Given the description of an element on the screen output the (x, y) to click on. 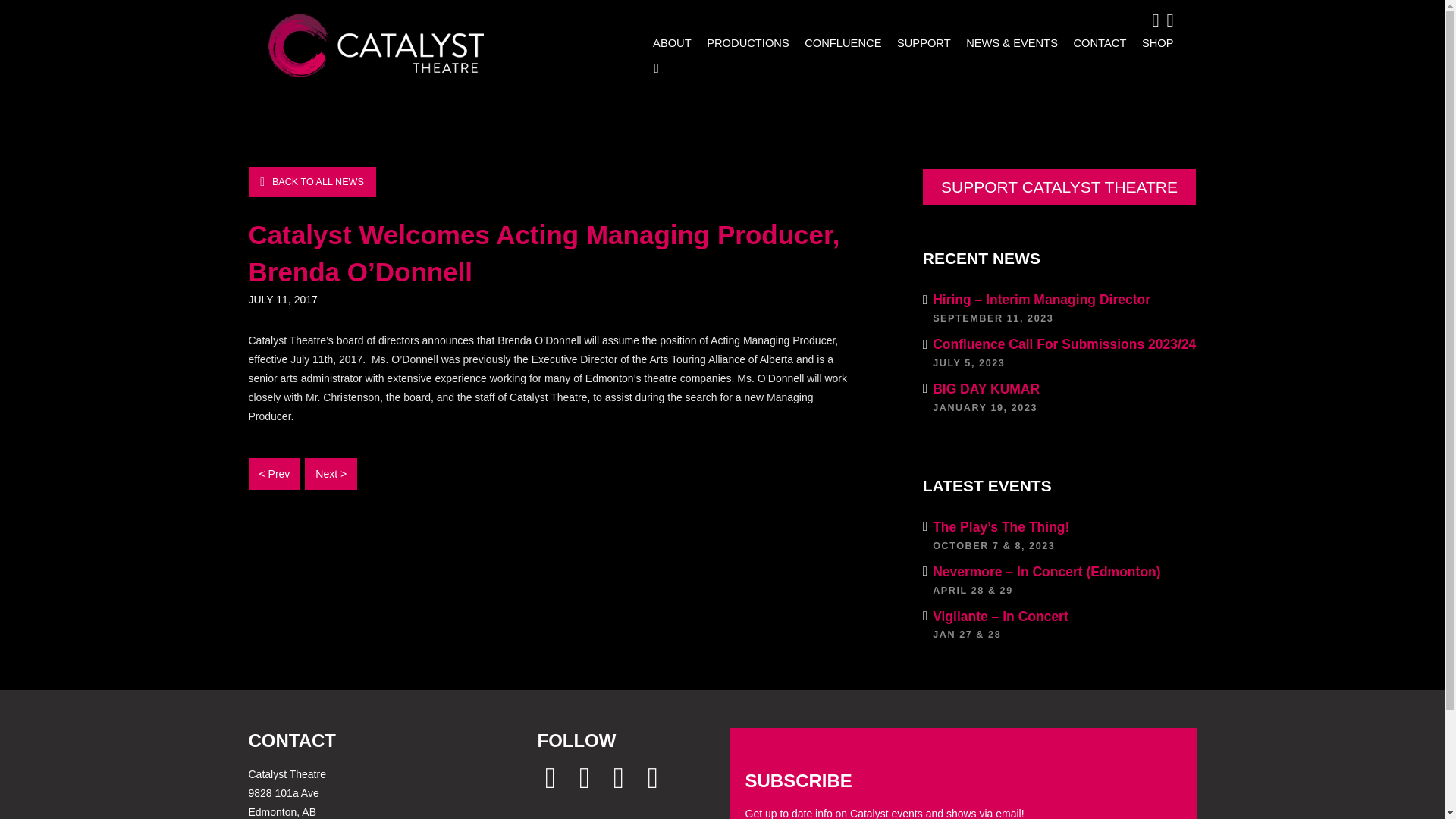
ABOUT (668, 42)
CONFLUENCE (839, 42)
BACK TO ALL NEWS (311, 182)
SHOP (1059, 397)
SUPPORT (1152, 42)
PRODUCTIONS (919, 42)
CONTACT (744, 42)
SUPPORT CATALYST THEATRE (1095, 42)
